Given the description of an element on the screen output the (x, y) to click on. 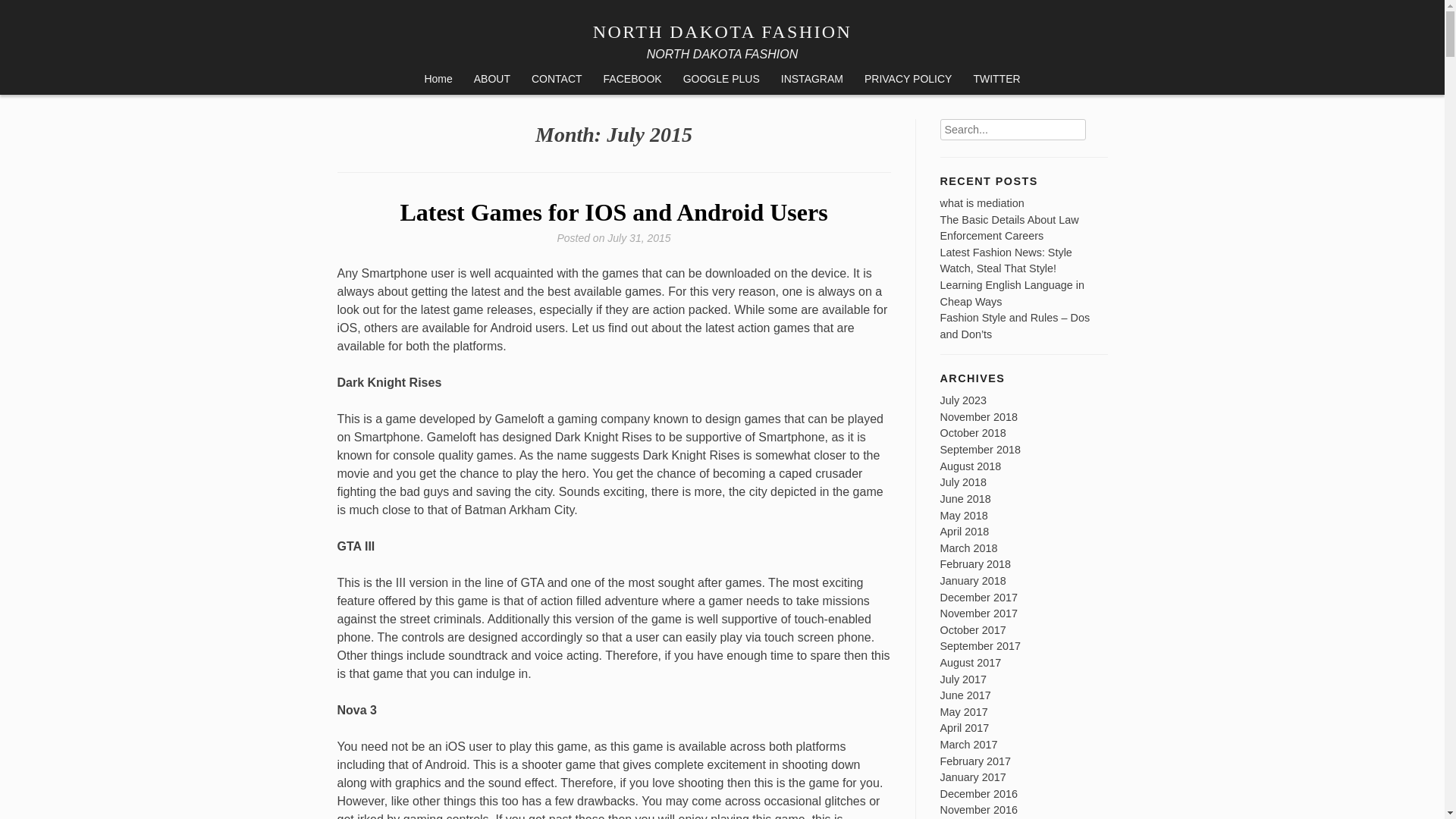
Home (438, 80)
CONTACT (556, 80)
FACEBOOK (632, 80)
Search (1095, 123)
INSTAGRAM (811, 80)
ABOUT (492, 80)
GOOGLE PLUS (721, 80)
Latest Games for IOS and Android Users (612, 212)
NORTH DAKOTA FASHION (721, 31)
PRIVACY POLICY (907, 80)
TWITTER (996, 80)
July 31, 2015 (638, 237)
Search (1095, 123)
Search for: (1013, 129)
